Given the description of an element on the screen output the (x, y) to click on. 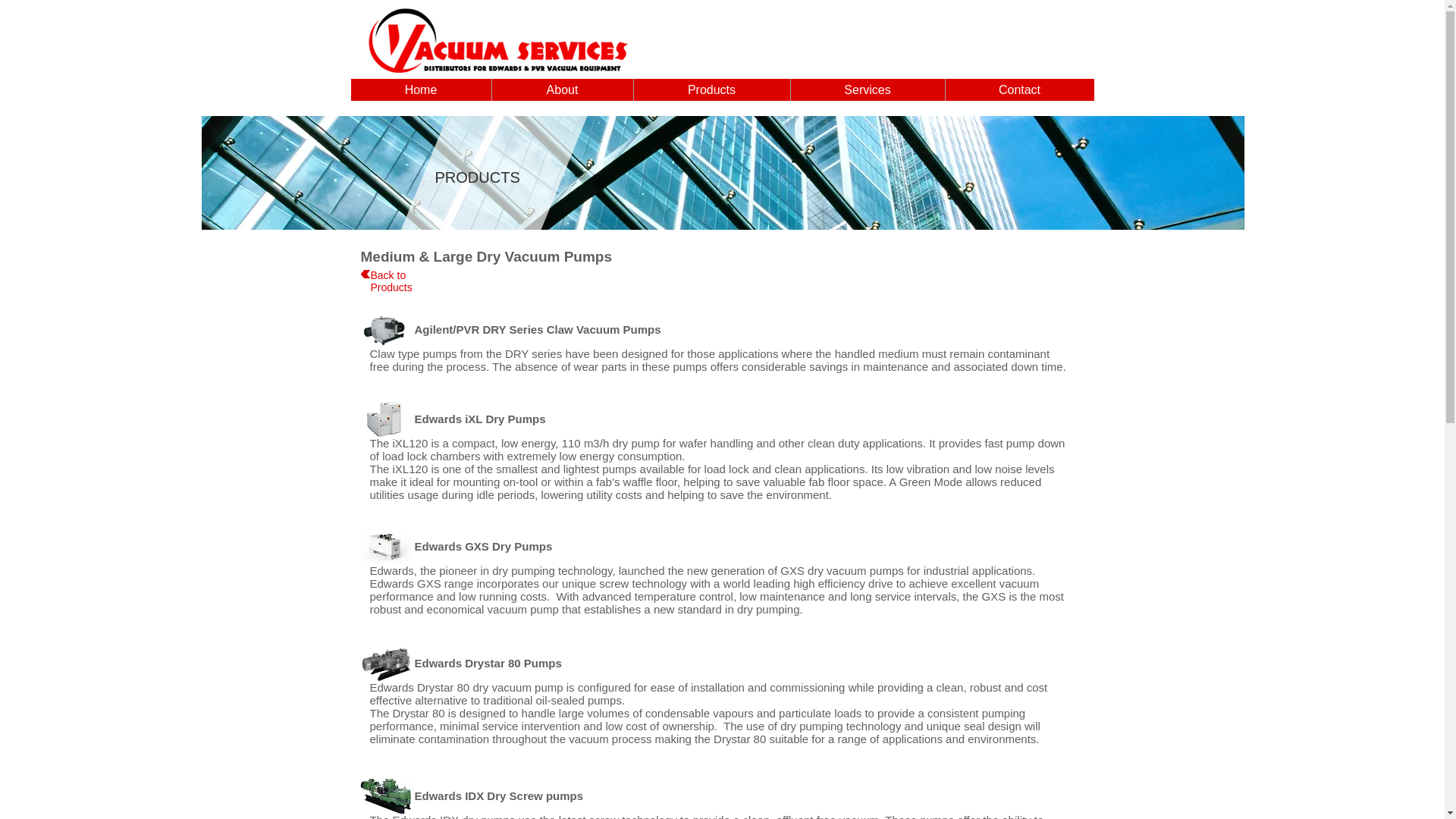
Glass Ceiling (723, 173)
Services (867, 89)
Home (420, 89)
About (562, 89)
Products (710, 89)
Back to Products (390, 281)
Contact (1019, 89)
